Given the description of an element on the screen output the (x, y) to click on. 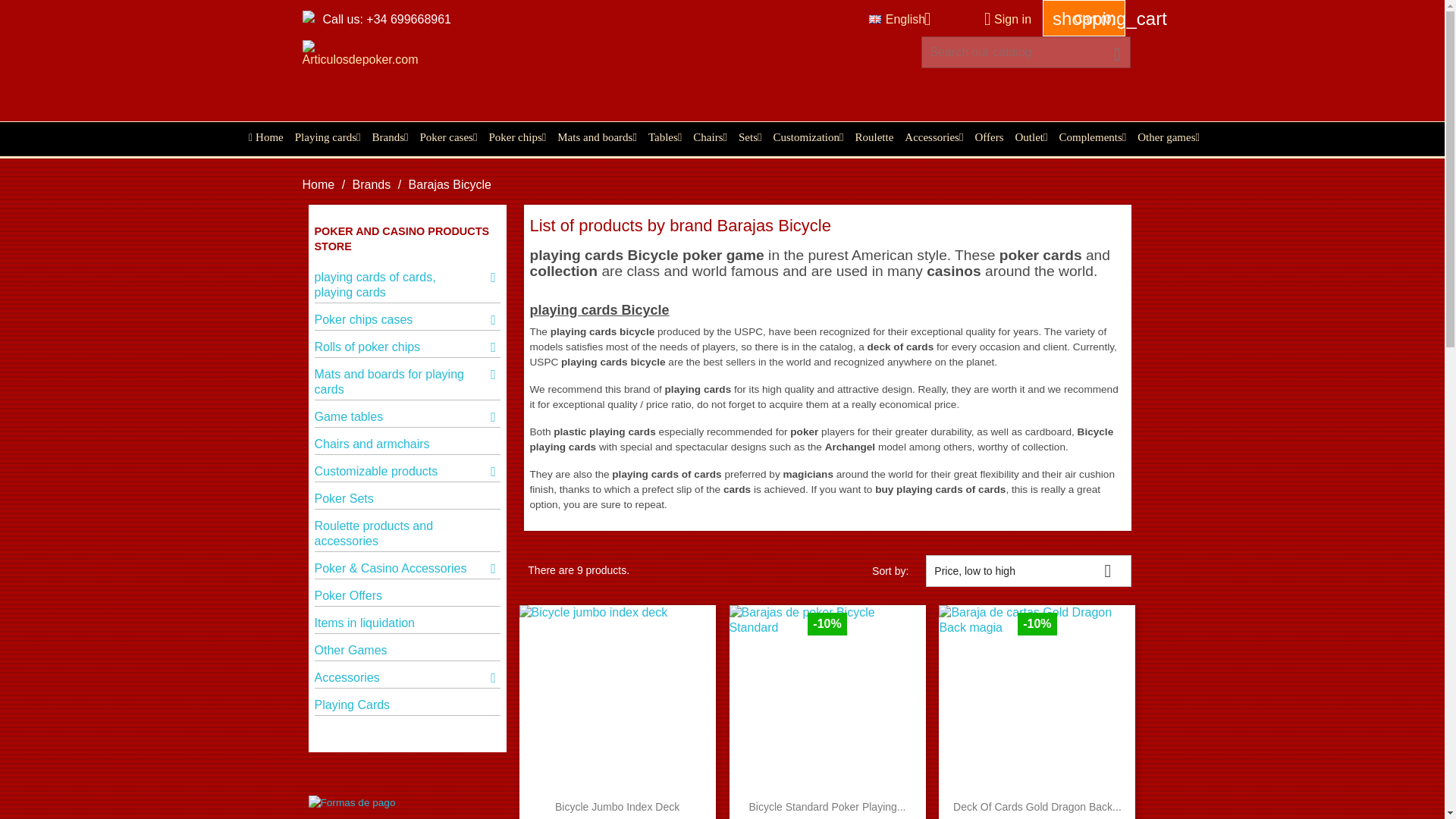
Playing cards (323, 137)
Log in to your customer account (1001, 19)
Poker cases (444, 137)
Brands (385, 137)
Home (262, 137)
